Given the description of an element on the screen output the (x, y) to click on. 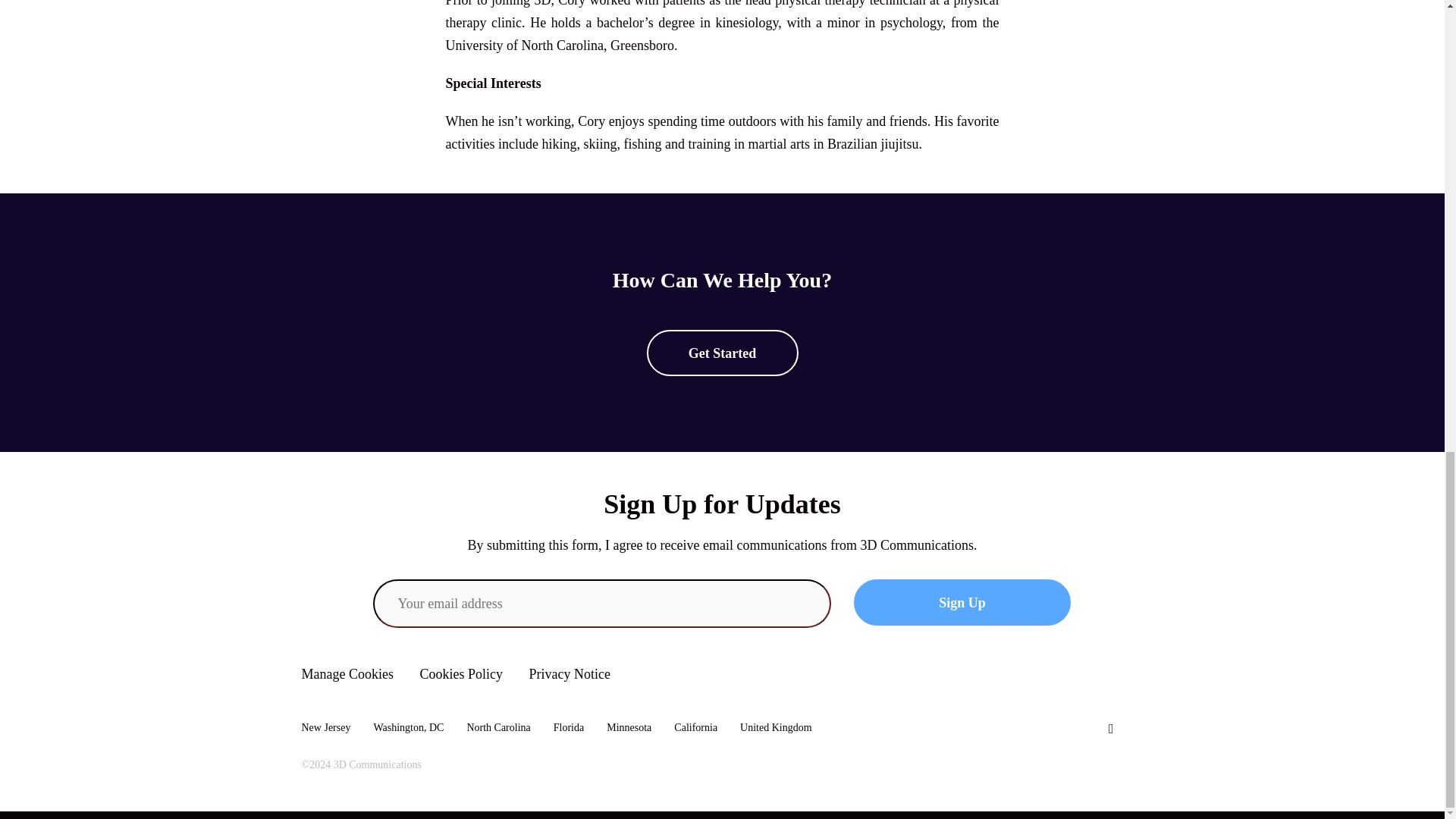
Cookies Policy (460, 673)
Privacy Notice (569, 673)
Manage Cookies (347, 673)
Cookies Policy (460, 673)
Sign Up (962, 602)
Get Started (721, 352)
Privacy Notice (569, 673)
Sign Up (962, 602)
